Given the description of an element on the screen output the (x, y) to click on. 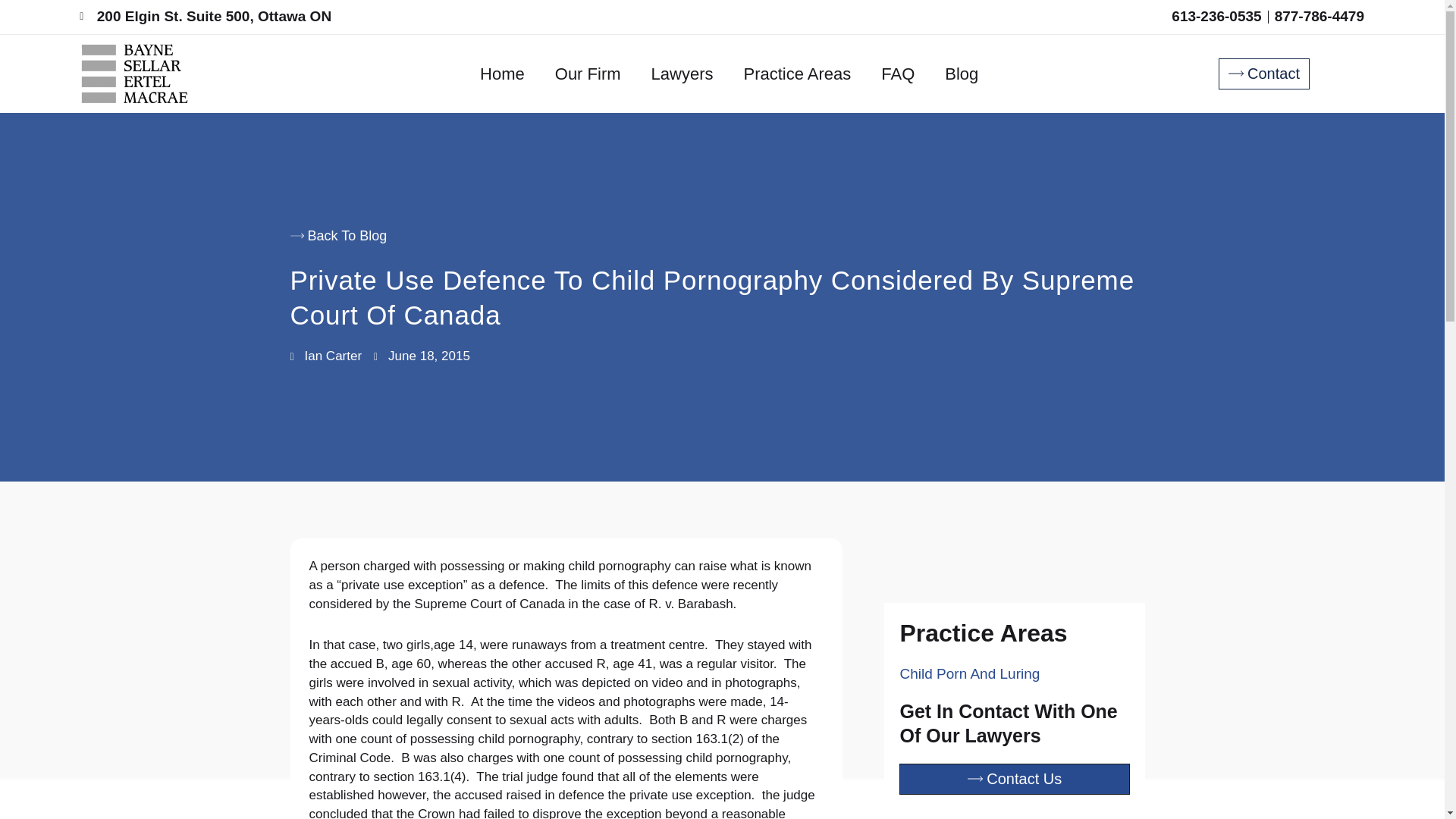
Blog (961, 73)
877-786-4479 (1319, 16)
200 Elgin St. Suite 500, Ottawa ON (205, 16)
Lawyers (682, 73)
Practice Areas (797, 73)
Our Firm (588, 73)
613-236-0535 (1216, 16)
Home (502, 73)
FAQ (898, 73)
